Given the description of an element on the screen output the (x, y) to click on. 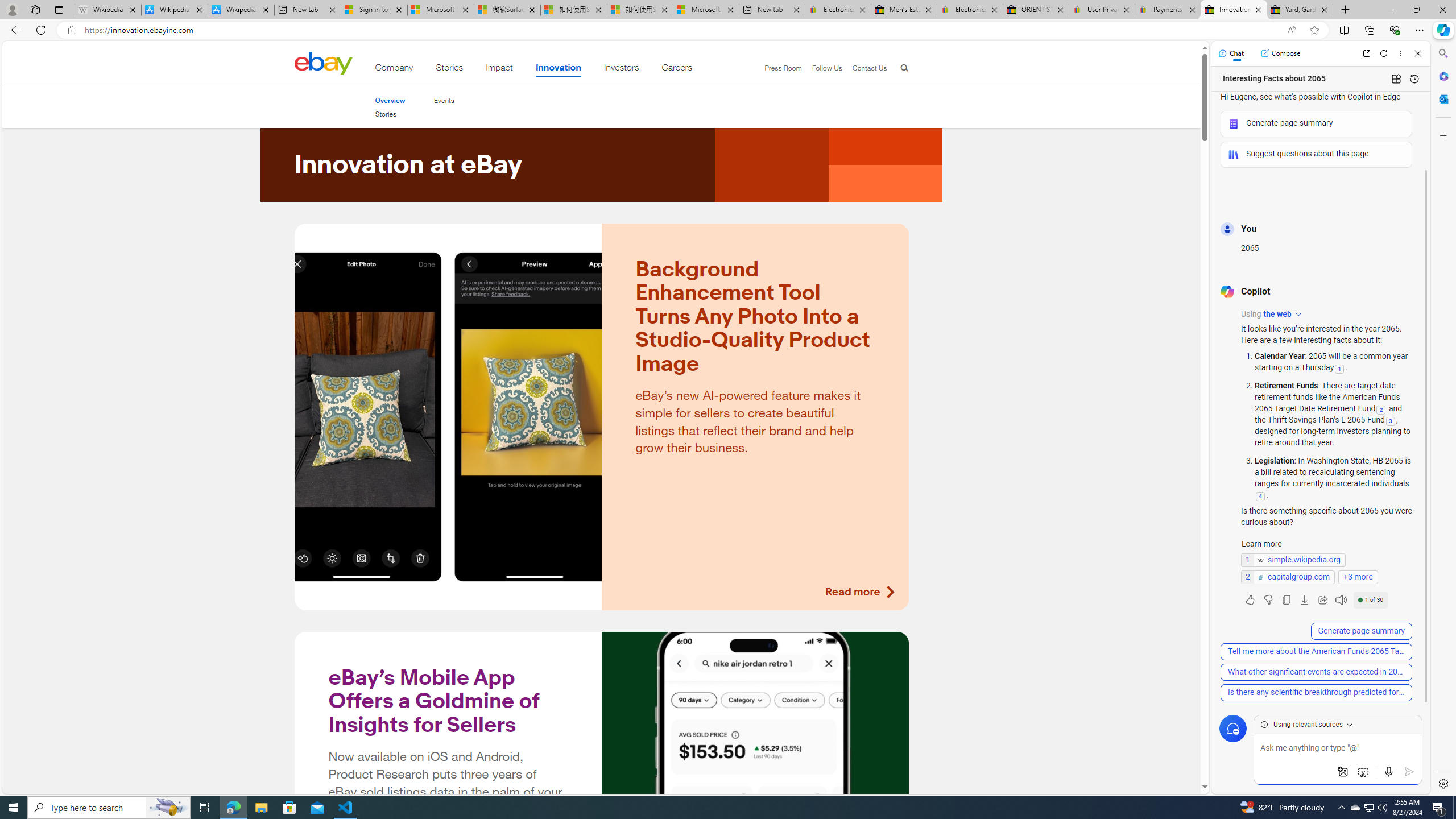
Investors (620, 69)
Class: desktop (323, 63)
Events (443, 99)
Follow Us (821, 68)
Sign in to your Microsoft account (374, 9)
Company (393, 69)
Company (393, 69)
